Given the description of an element on the screen output the (x, y) to click on. 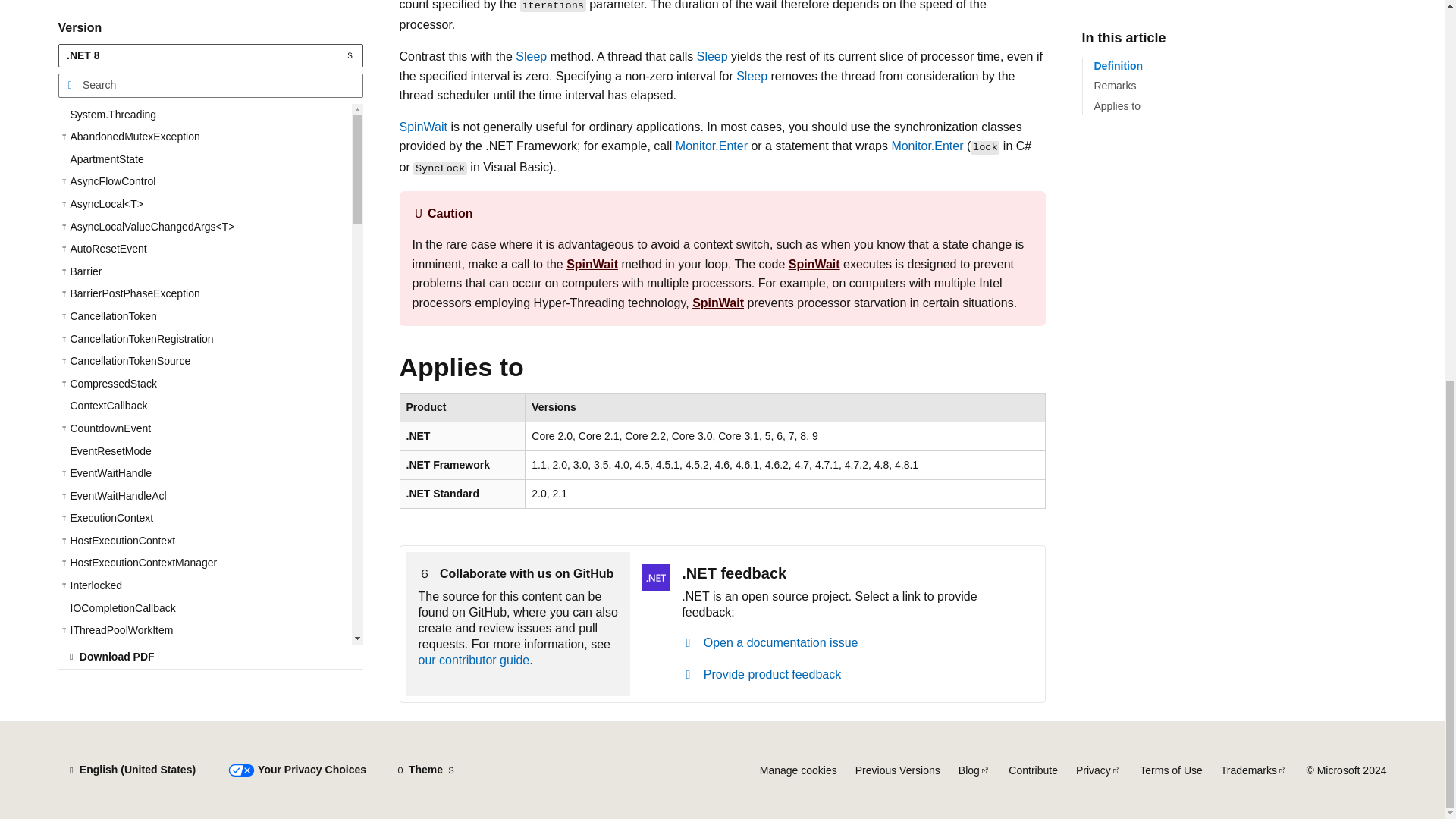
Theme (425, 770)
